Given the description of an element on the screen output the (x, y) to click on. 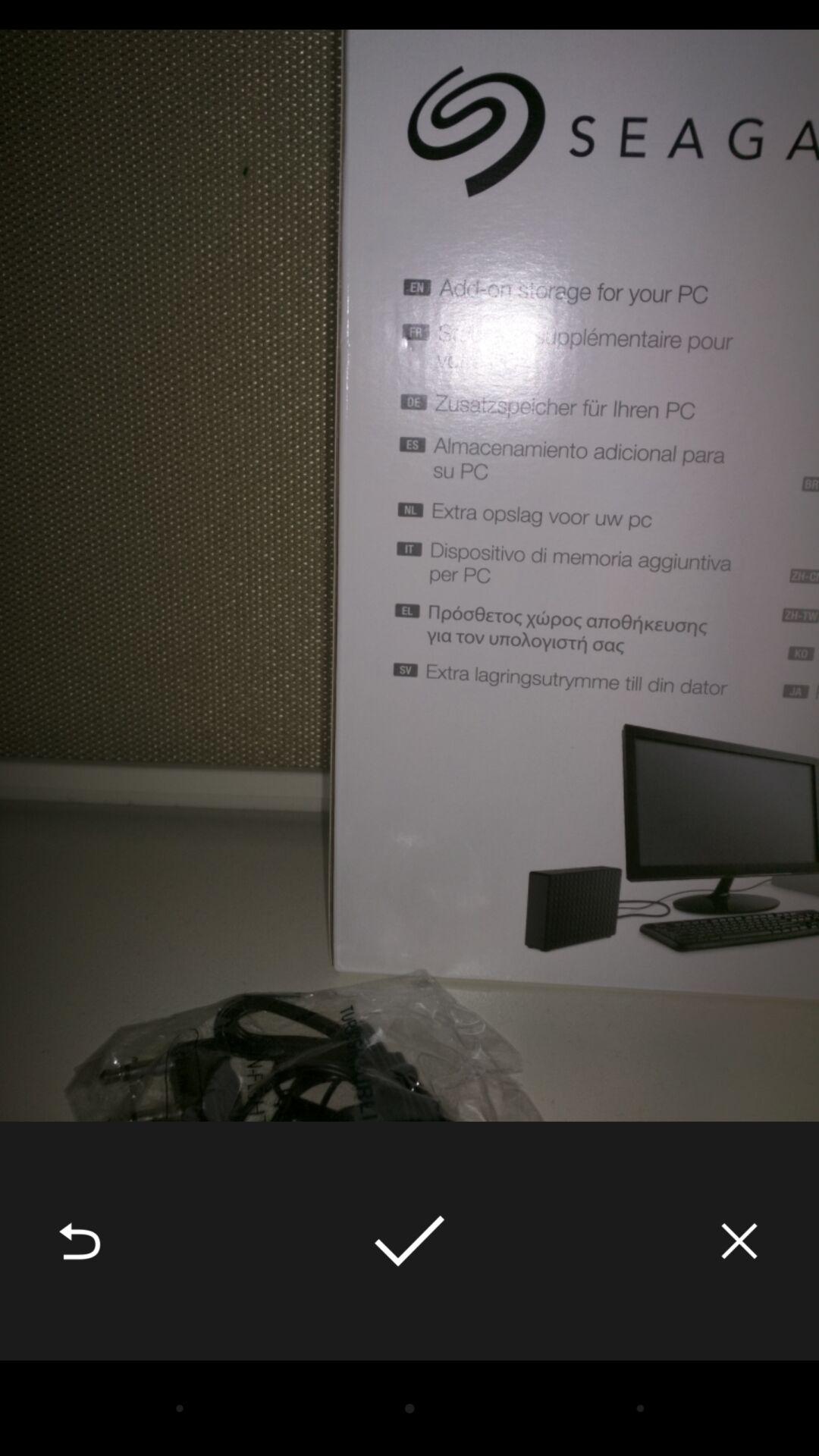
click the icon at the bottom right corner (739, 1240)
